Given the description of an element on the screen output the (x, y) to click on. 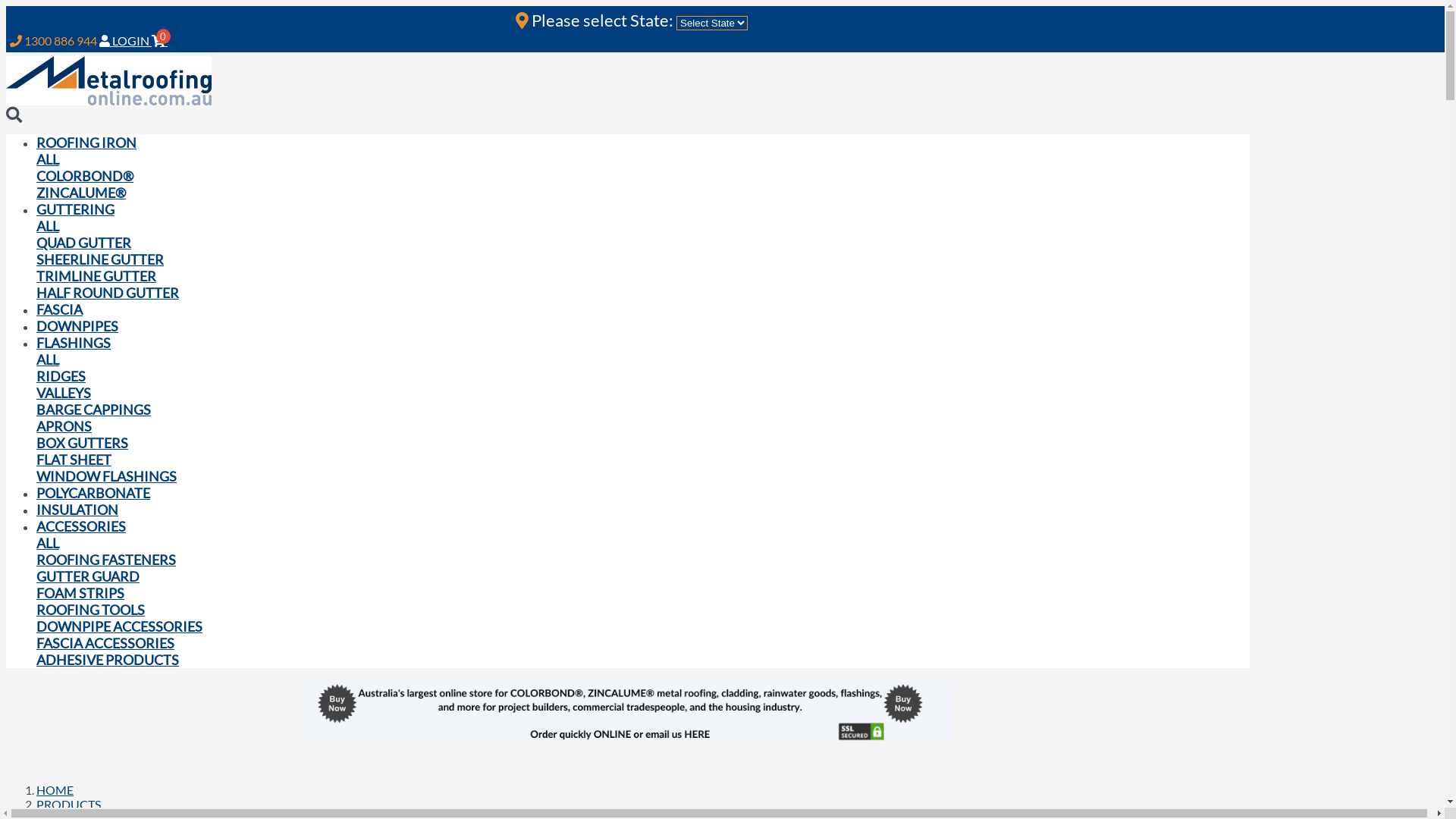
ALL Element type: text (47, 158)
PRODUCTS Element type: text (68, 804)
HOME Element type: text (54, 789)
SHEERLINE GUTTER Element type: text (99, 259)
FASCIA ACCESSORIES Element type: text (105, 642)
DOWNPIPE ACCESSORIES Element type: text (119, 626)
LOGIN Element type: text (125, 40)
FLASHINGS Element type: text (73, 342)
ALL Element type: text (47, 359)
BOX GUTTERS Element type: text (82, 442)
DOWNPIPES Element type: text (77, 325)
ROOFING FASTENERS Element type: text (105, 559)
WINDOW FLASHINGS Element type: text (106, 475)
APRONS Element type: text (63, 425)
ACCESSORIES Element type: text (80, 525)
POLYCARBONATE Element type: text (93, 492)
ALL Element type: text (47, 225)
TRIMLINE GUTTER Element type: text (96, 275)
ADHESIVE PRODUCTS Element type: text (107, 659)
RIDGES Element type: text (60, 375)
GUTTER GUARD Element type: text (87, 575)
FLAT SHEET Element type: text (73, 459)
0 Element type: text (160, 40)
FOAM STRIPS Element type: text (80, 592)
BARGE CAPPINGS Element type: text (93, 409)
ROOFING IRON Element type: text (86, 142)
ROOFING TOOLS Element type: text (90, 609)
GUTTERING Element type: text (75, 208)
VALLEYS Element type: text (63, 392)
INSULATION Element type: text (77, 509)
HALF ROUND GUTTER Element type: text (107, 292)
FASCIA Element type: text (59, 309)
ALL Element type: text (47, 542)
QUAD GUTTER Element type: text (83, 242)
